Given the description of an element on the screen output the (x, y) to click on. 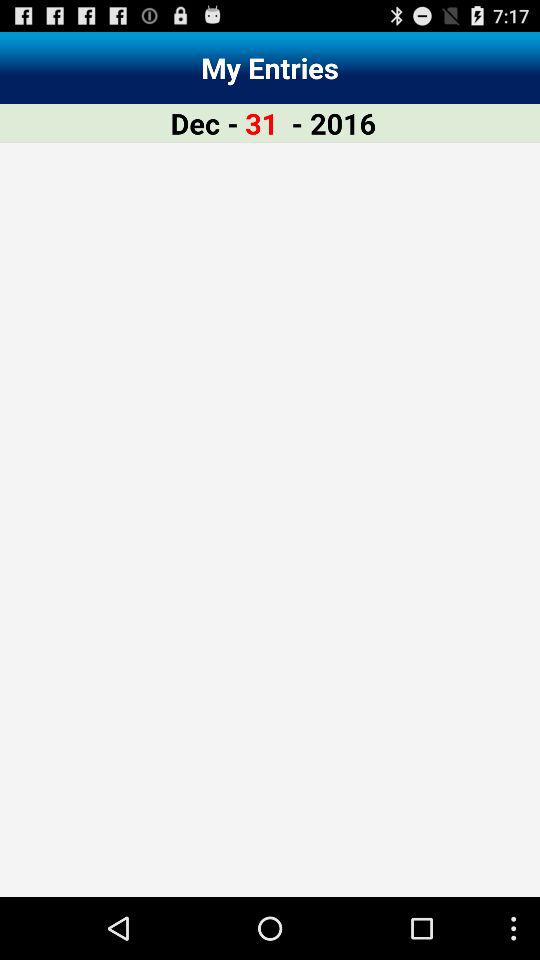
turn on the item to the right of the 31 app (333, 122)
